Given the description of an element on the screen output the (x, y) to click on. 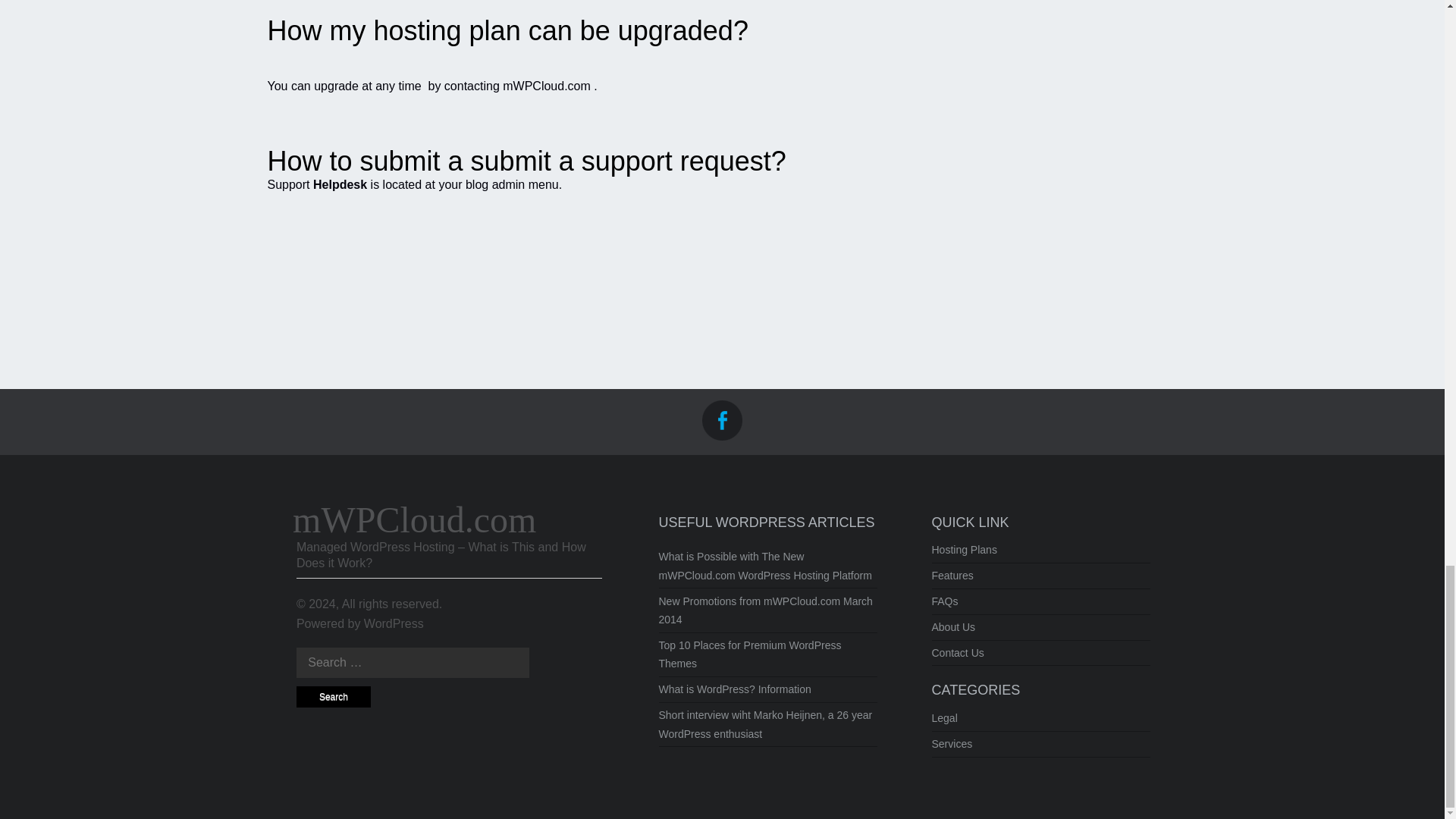
WordPress (393, 623)
Search (334, 697)
Legal (943, 717)
About Us (953, 626)
mWPCloud.com (413, 519)
A Semantic Personal Publishing Platform (393, 623)
What is WordPress? Information (734, 689)
FAQs (944, 601)
Features (951, 575)
Search (334, 697)
